Given the description of an element on the screen output the (x, y) to click on. 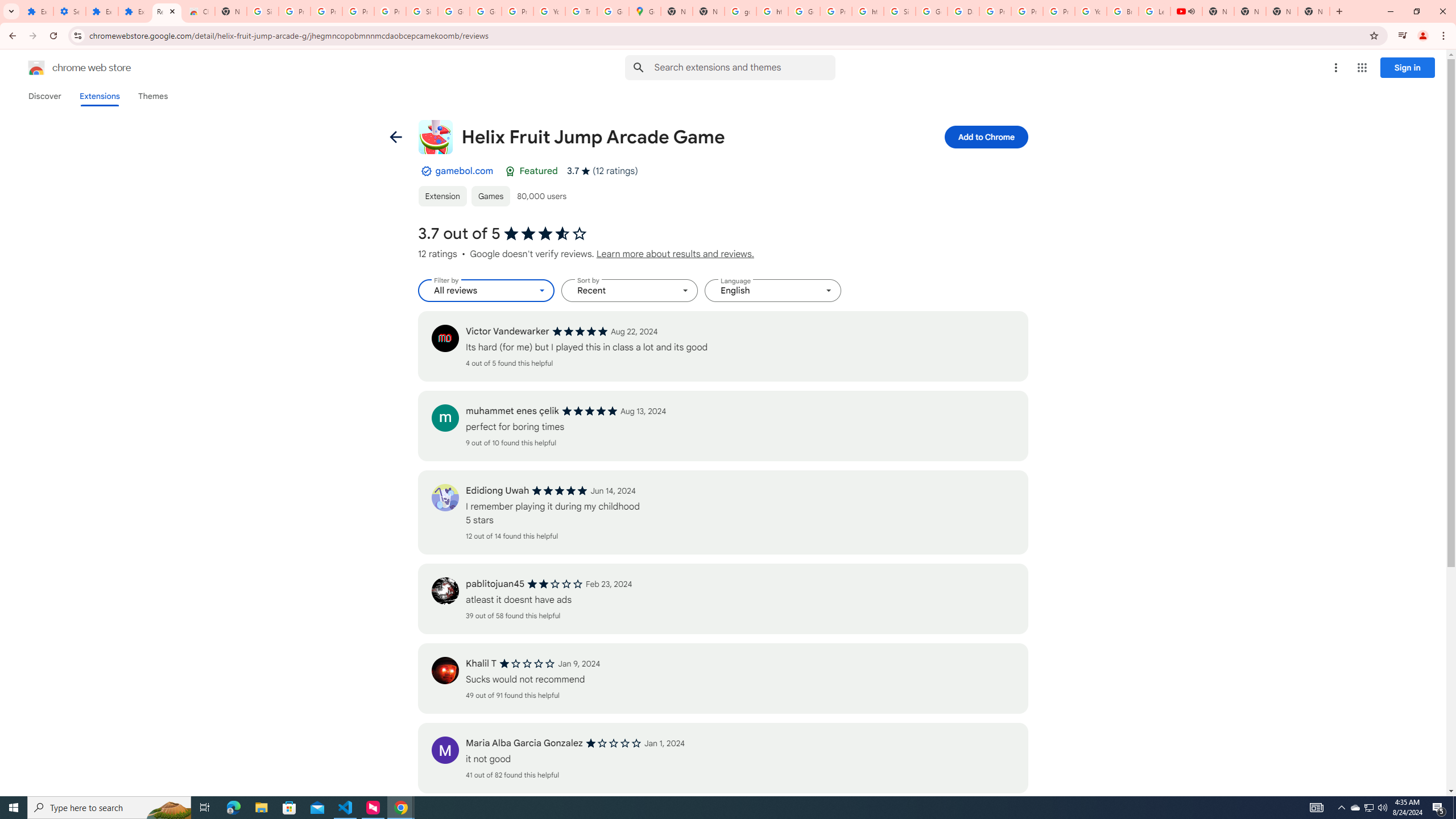
Item logo image for Helix Fruit Jump Arcade Game (434, 136)
Discover (43, 95)
Themes (152, 95)
